Given the description of an element on the screen output the (x, y) to click on. 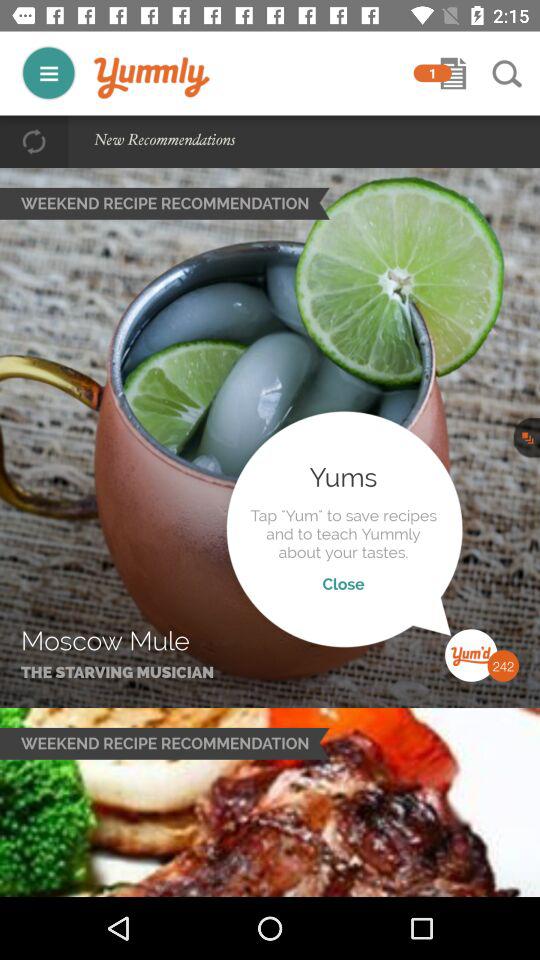
open menu (48, 72)
